Given the description of an element on the screen output the (x, y) to click on. 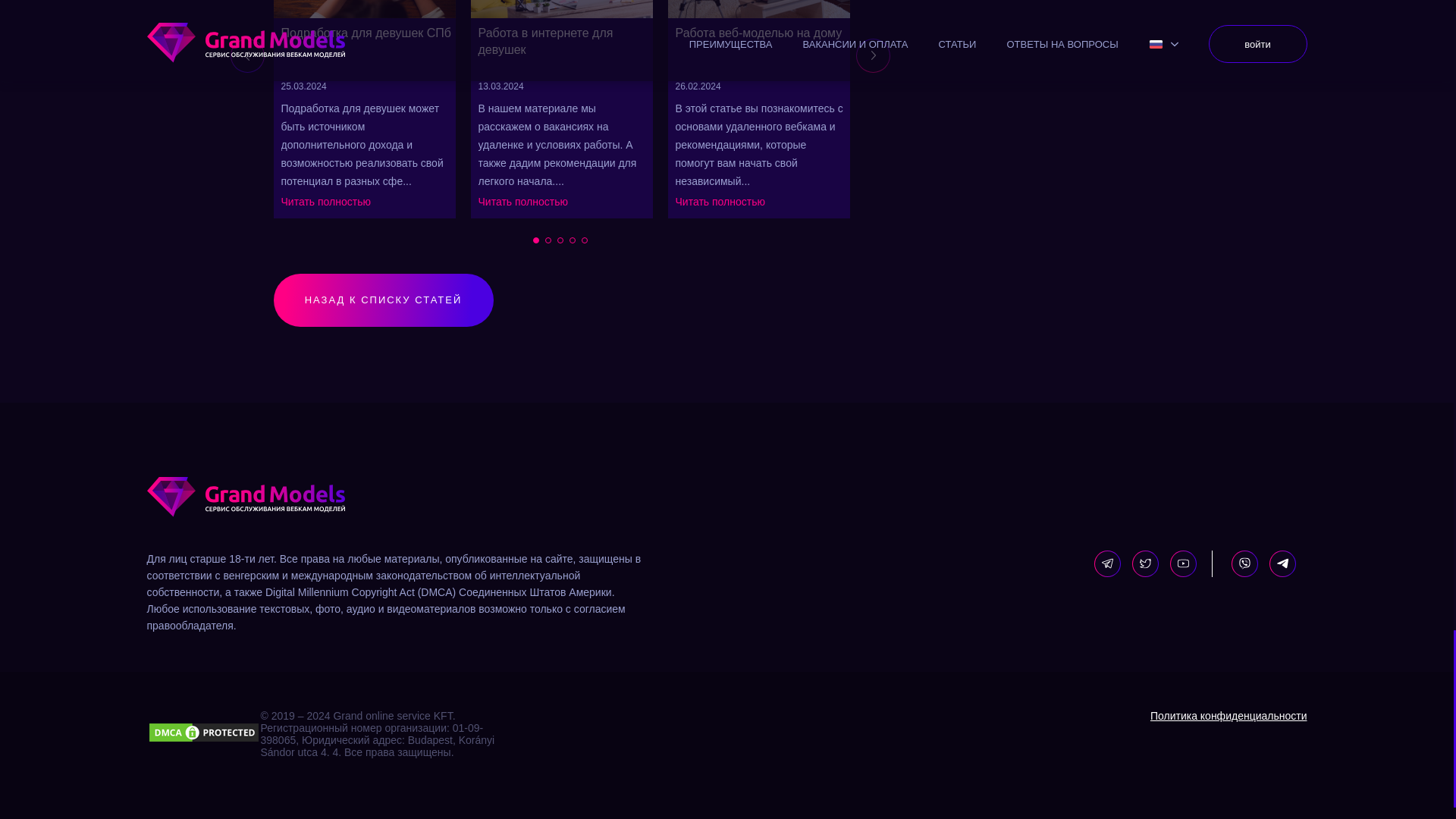
DMCA.com Protection Status (203, 733)
